Given the description of an element on the screen output the (x, y) to click on. 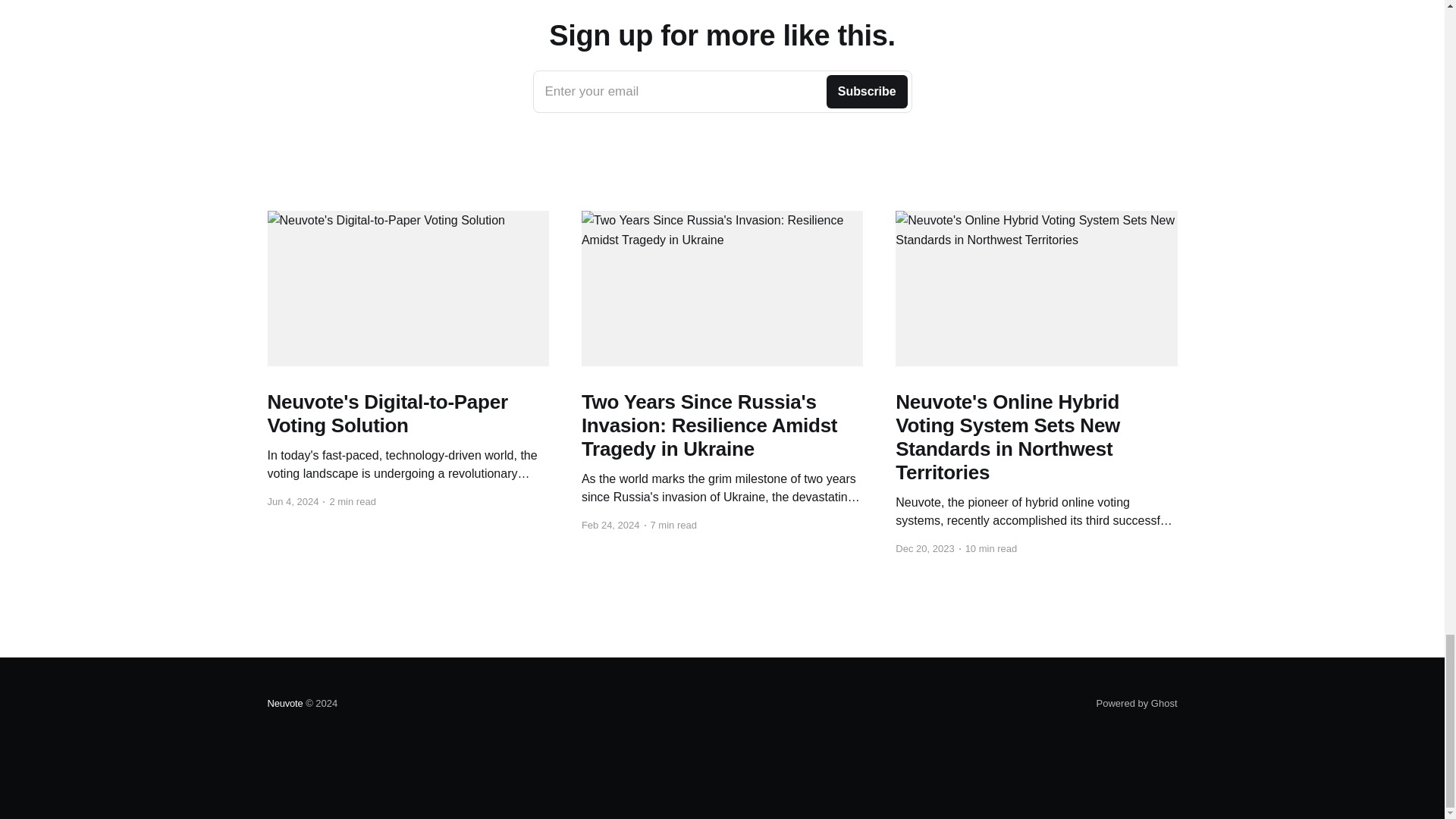
Neuvote (284, 703)
Powered by Ghost (721, 91)
